Given the description of an element on the screen output the (x, y) to click on. 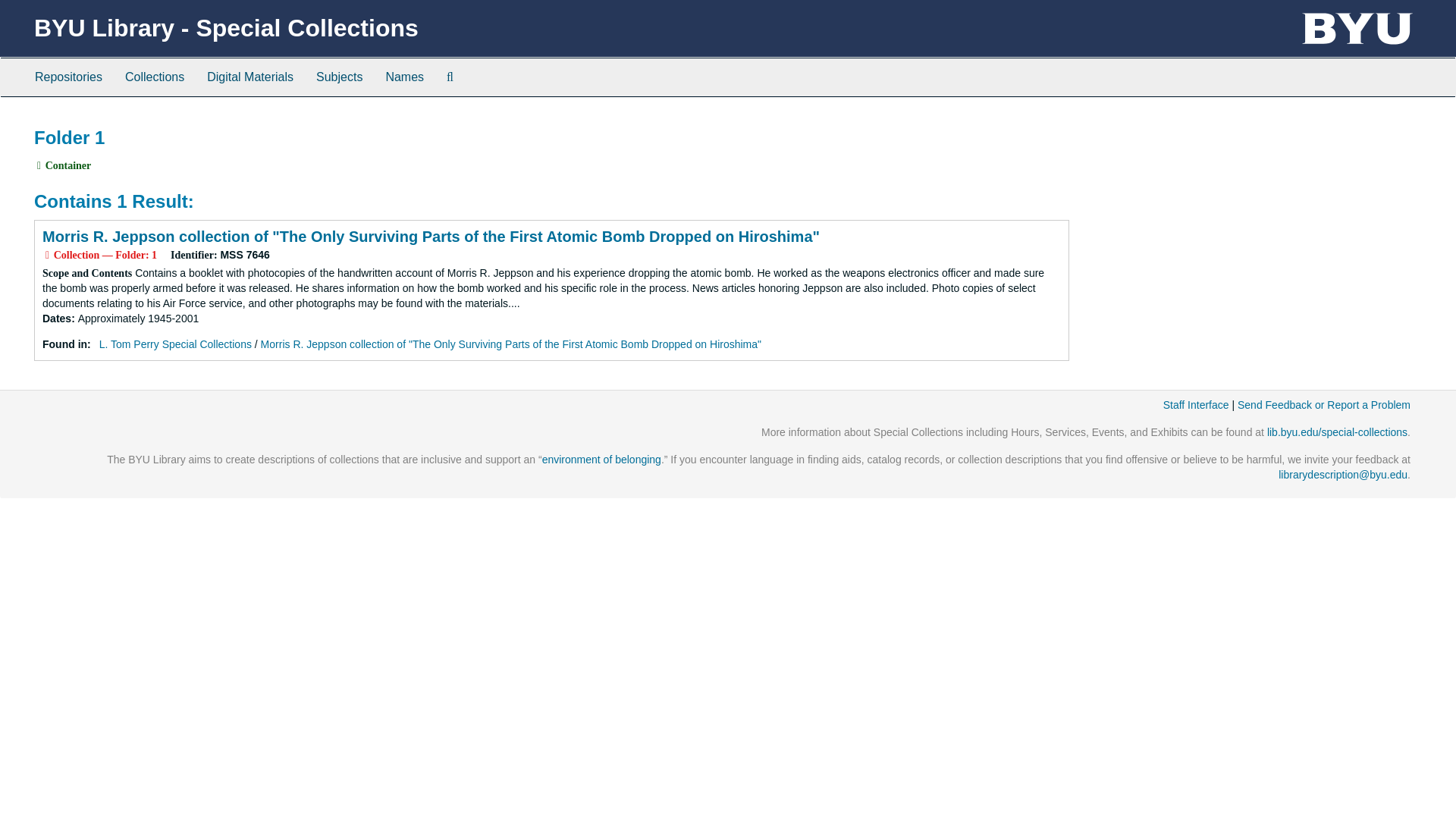
BYU Library - Special Collections (226, 27)
Names (404, 77)
Collections (154, 77)
Staff Interface (1195, 404)
Subjects (339, 77)
Page Actions (1139, 120)
Repositories (68, 77)
L. Tom Perry Special Collections (175, 344)
translation missing: en.dates (56, 318)
Digital Materials (249, 77)
environment of belonging (601, 459)
Return to the homepage (226, 27)
Send Feedback or Report a Problem (1323, 404)
